Given the description of an element on the screen output the (x, y) to click on. 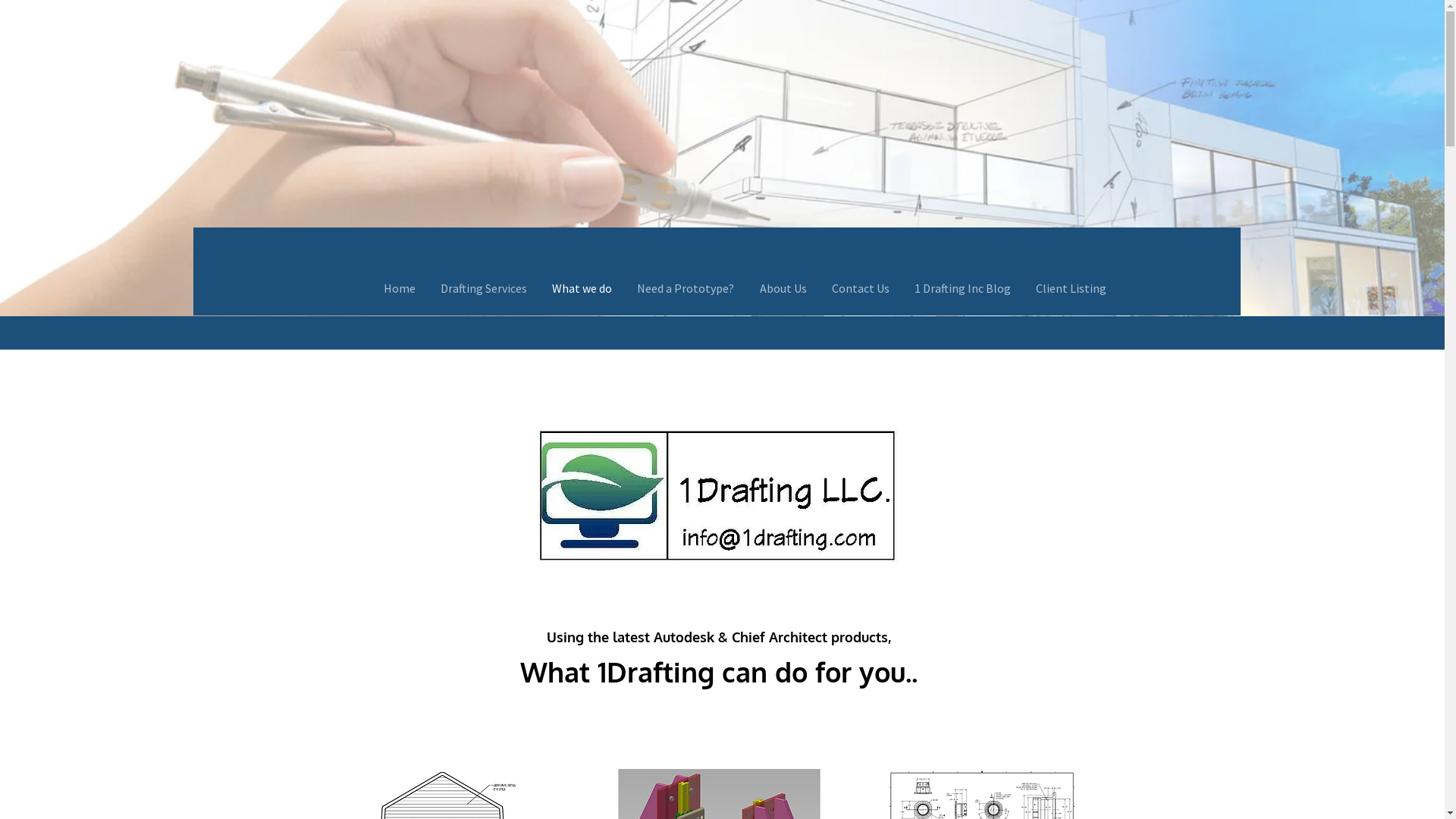
Contact Us Element type: text (860, 287)
Client Listing Element type: text (1070, 287)
About Us Element type: text (782, 287)
Home Element type: text (399, 287)
What we do Element type: text (581, 287)
1 Drafting Inc Blog Element type: text (961, 287)
Need a Prototype? Element type: text (685, 287)
Drafting Services Element type: text (483, 287)
